Given the description of an element on the screen output the (x, y) to click on. 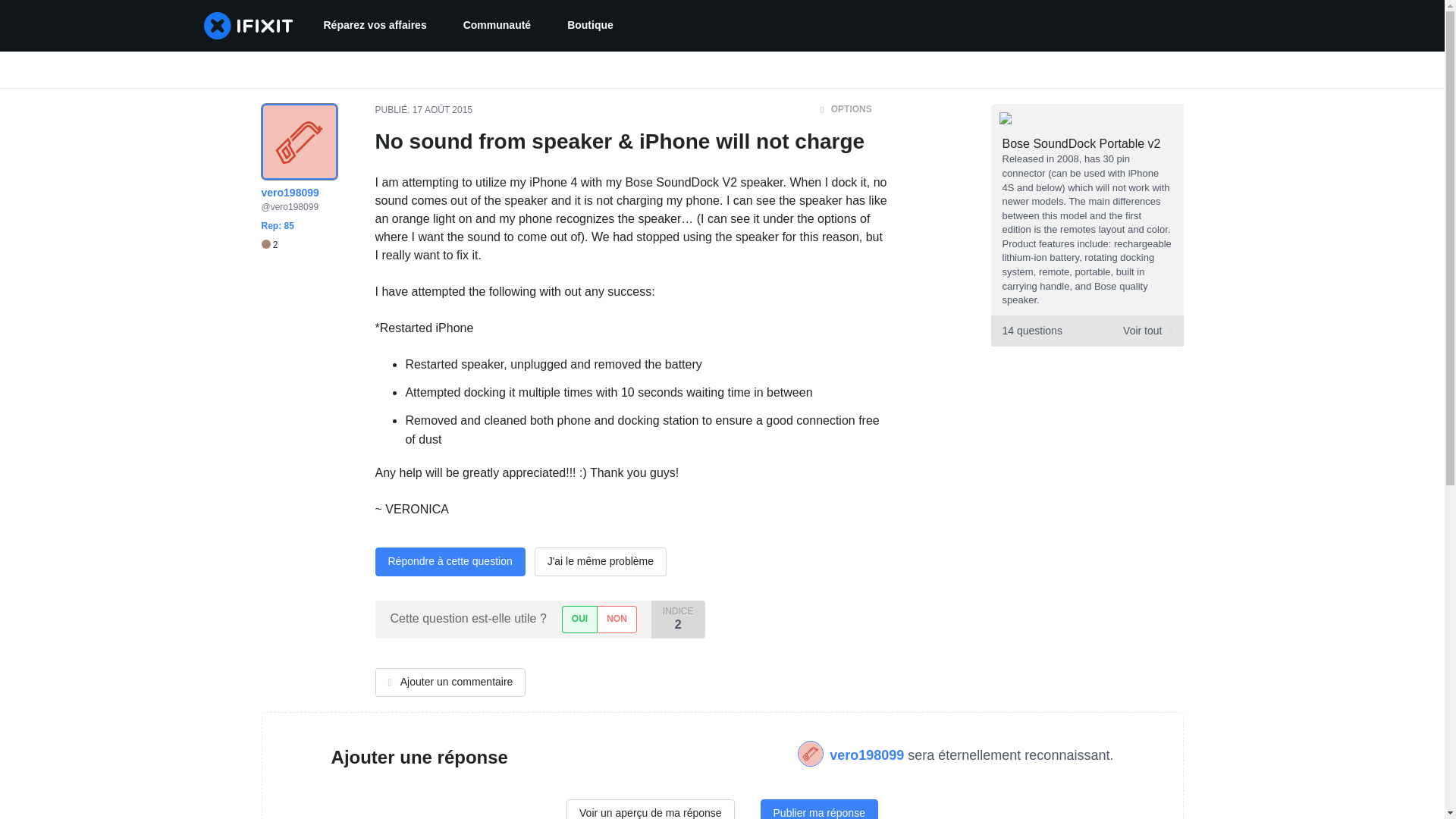
NON (616, 619)
Bose SoundDock Portable v2 (1081, 143)
Mon, 17 Aug 2015 16:35:29 -0700 (441, 109)
Ajouter un commentaire (1086, 330)
Boutique (449, 682)
vero198099 (589, 25)
2 (868, 754)
OUI (269, 245)
2 badges Bronze (579, 619)
